Given the description of an element on the screen output the (x, y) to click on. 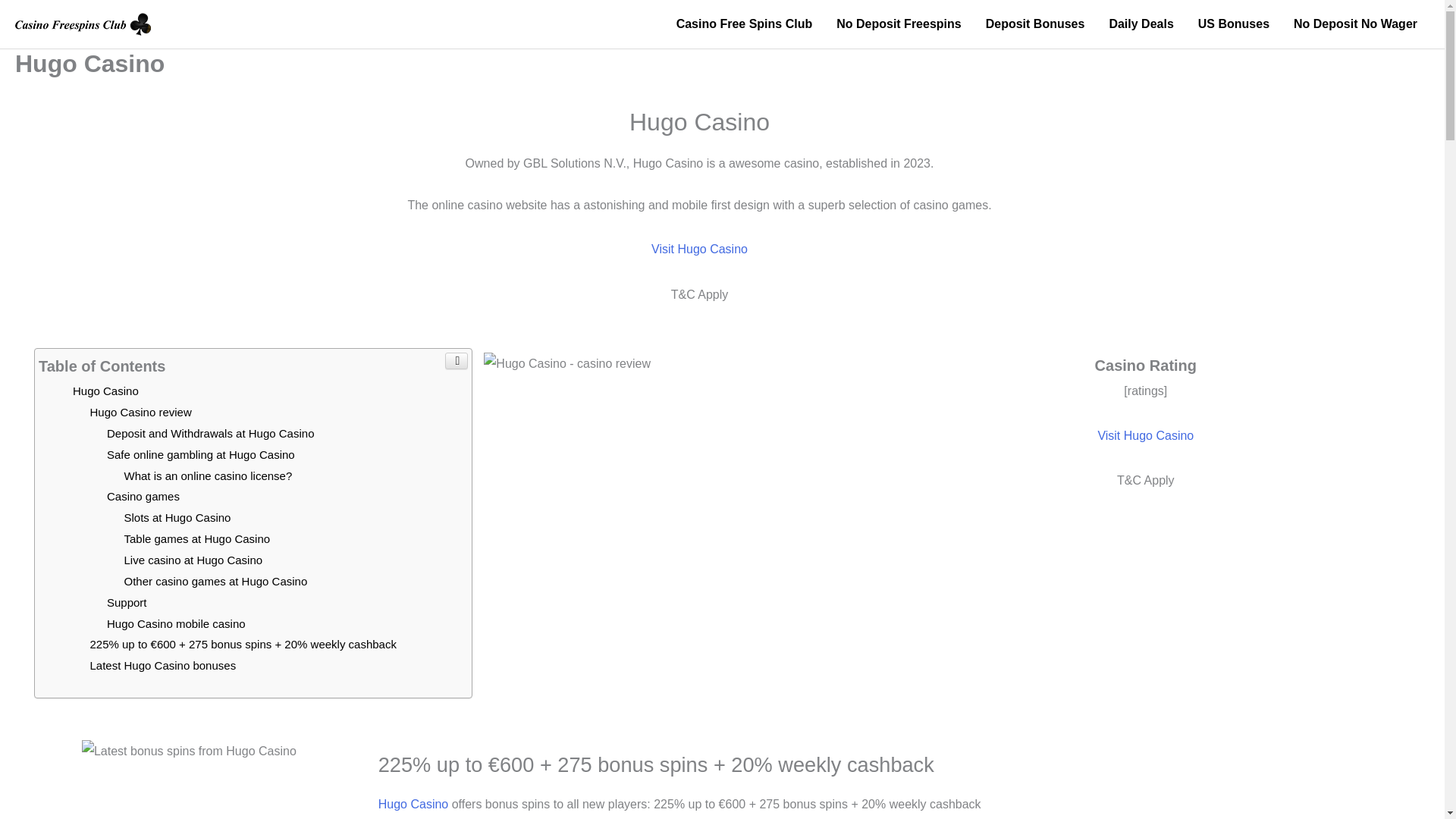
What is an online casino license? (207, 475)
US Bonuses (1233, 24)
Slots at Hugo Casino (177, 517)
Live casino at Hugo Casino (193, 559)
Deposit Bonuses (1035, 24)
Deposit and Withdrawals at Hugo Casino (210, 432)
Slots at Hugo Casino (177, 517)
Table games at Hugo Casino (196, 538)
Hugo Casino (105, 390)
Table games at Hugo Casino (196, 538)
Other casino games at Hugo Casino (215, 581)
Support (126, 602)
Safe online gambling at Hugo Casino (200, 454)
Safe online gambling at Hugo Casino (200, 454)
Daily Deals (1140, 24)
